Given the description of an element on the screen output the (x, y) to click on. 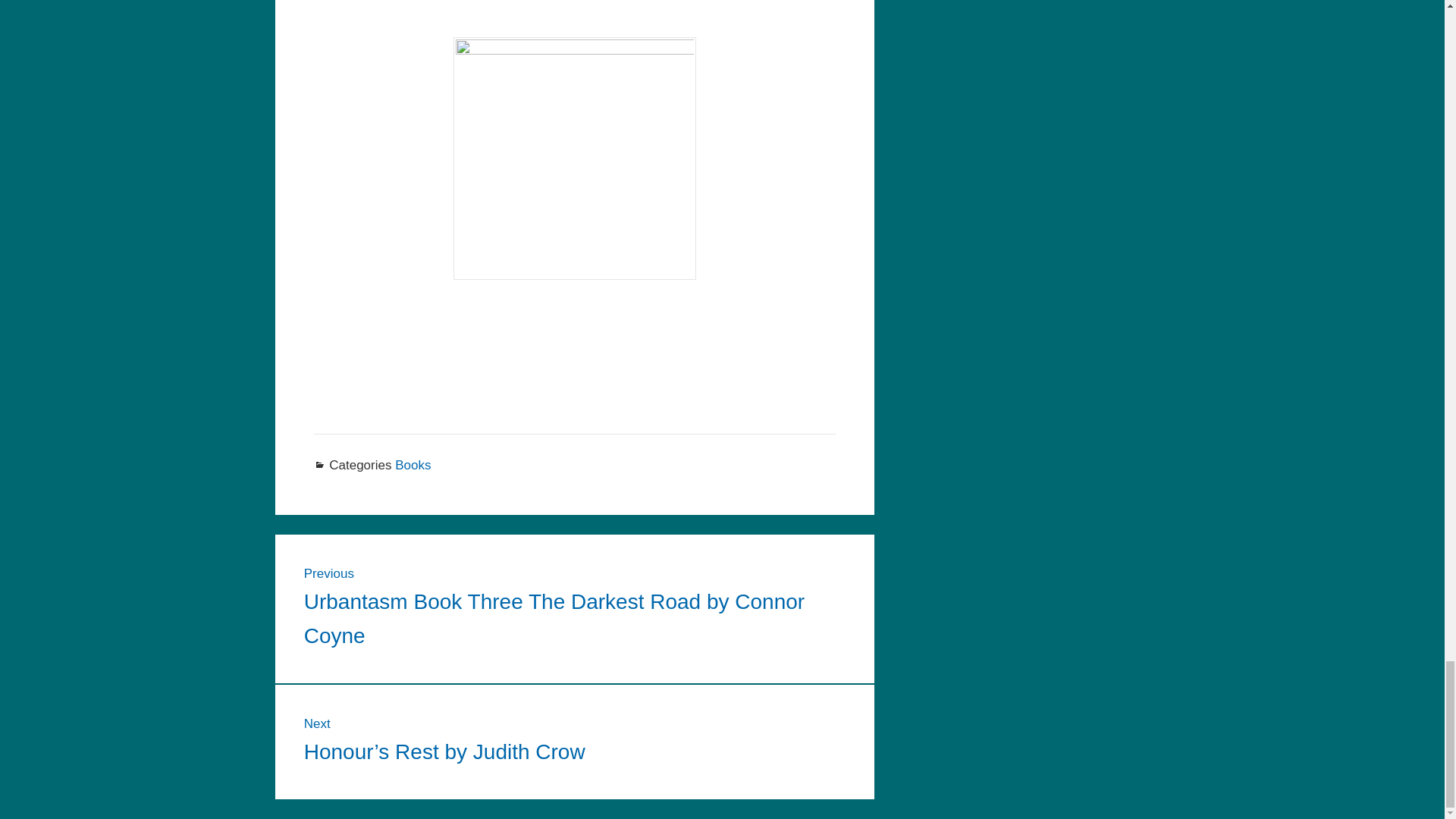
YouTube video player (574, 4)
Books (412, 464)
